Given the description of an element on the screen output the (x, y) to click on. 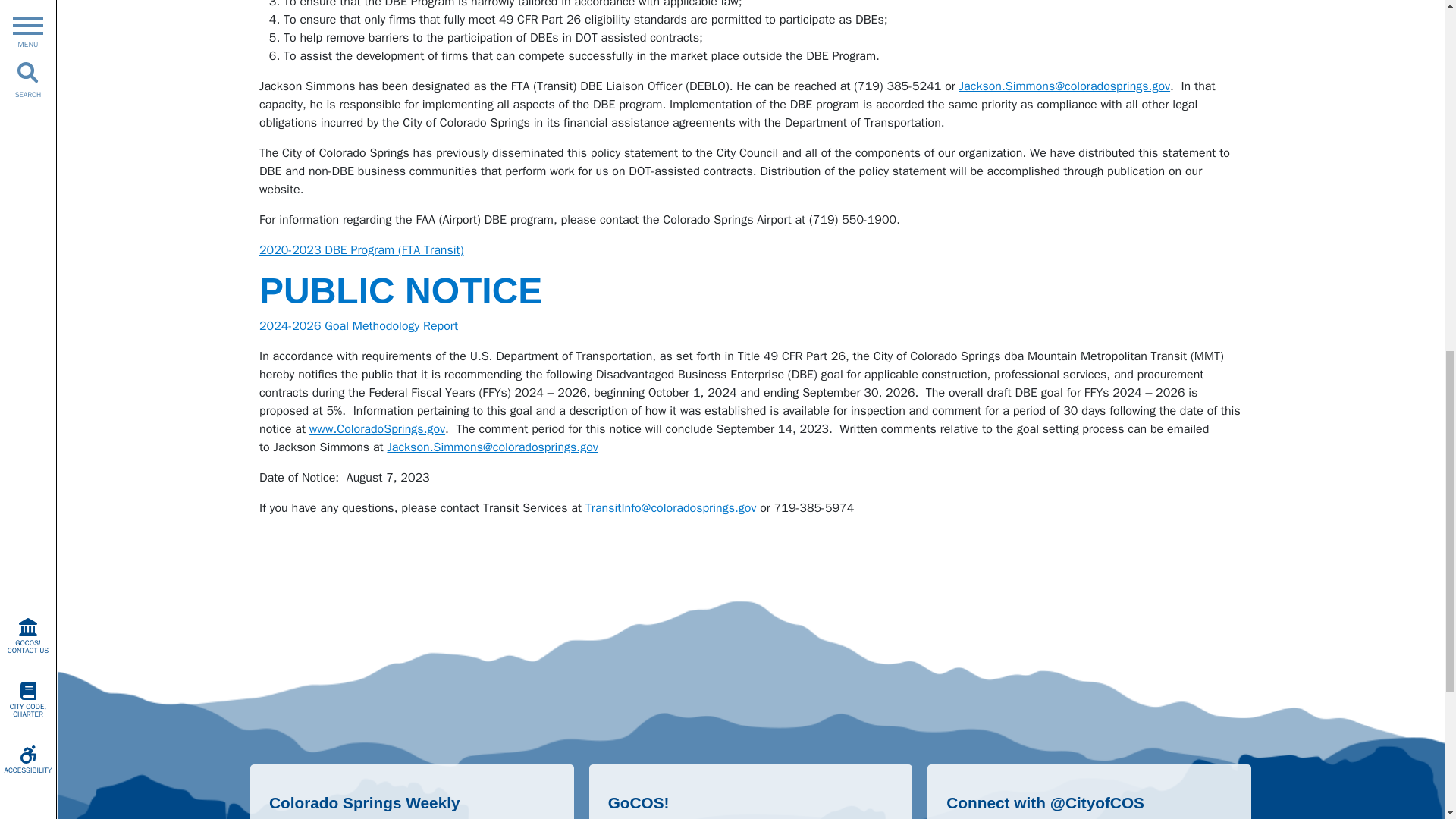
www.ColoradoSprings.gov (376, 428)
2024-2026 Goal Methodology Report (358, 325)
